Given the description of an element on the screen output the (x, y) to click on. 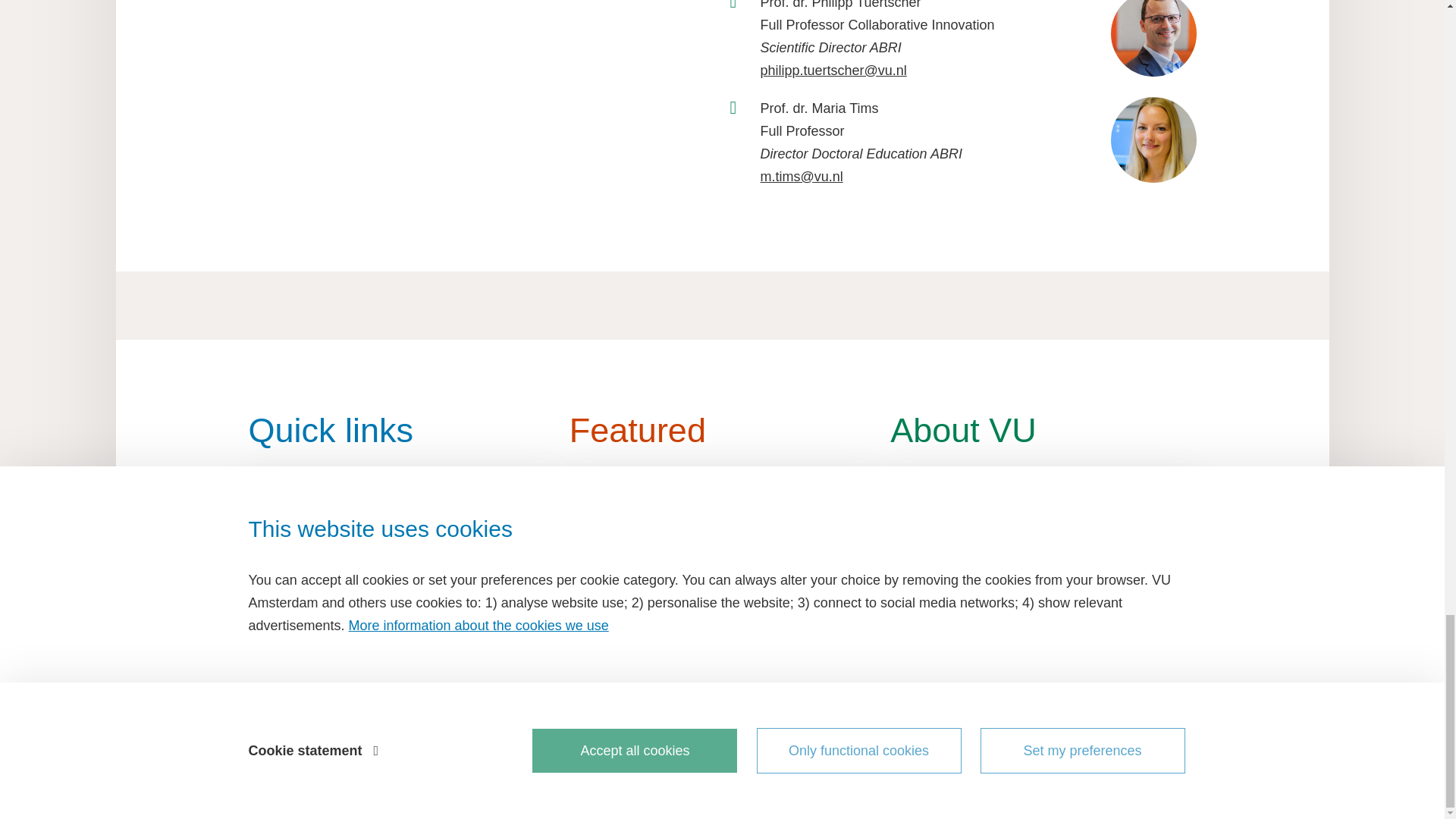
Research (400, 567)
VU Press Office (400, 620)
Study guide (400, 540)
University Library (400, 593)
VUfonds (400, 646)
Education (400, 513)
